Given the description of an element on the screen output the (x, y) to click on. 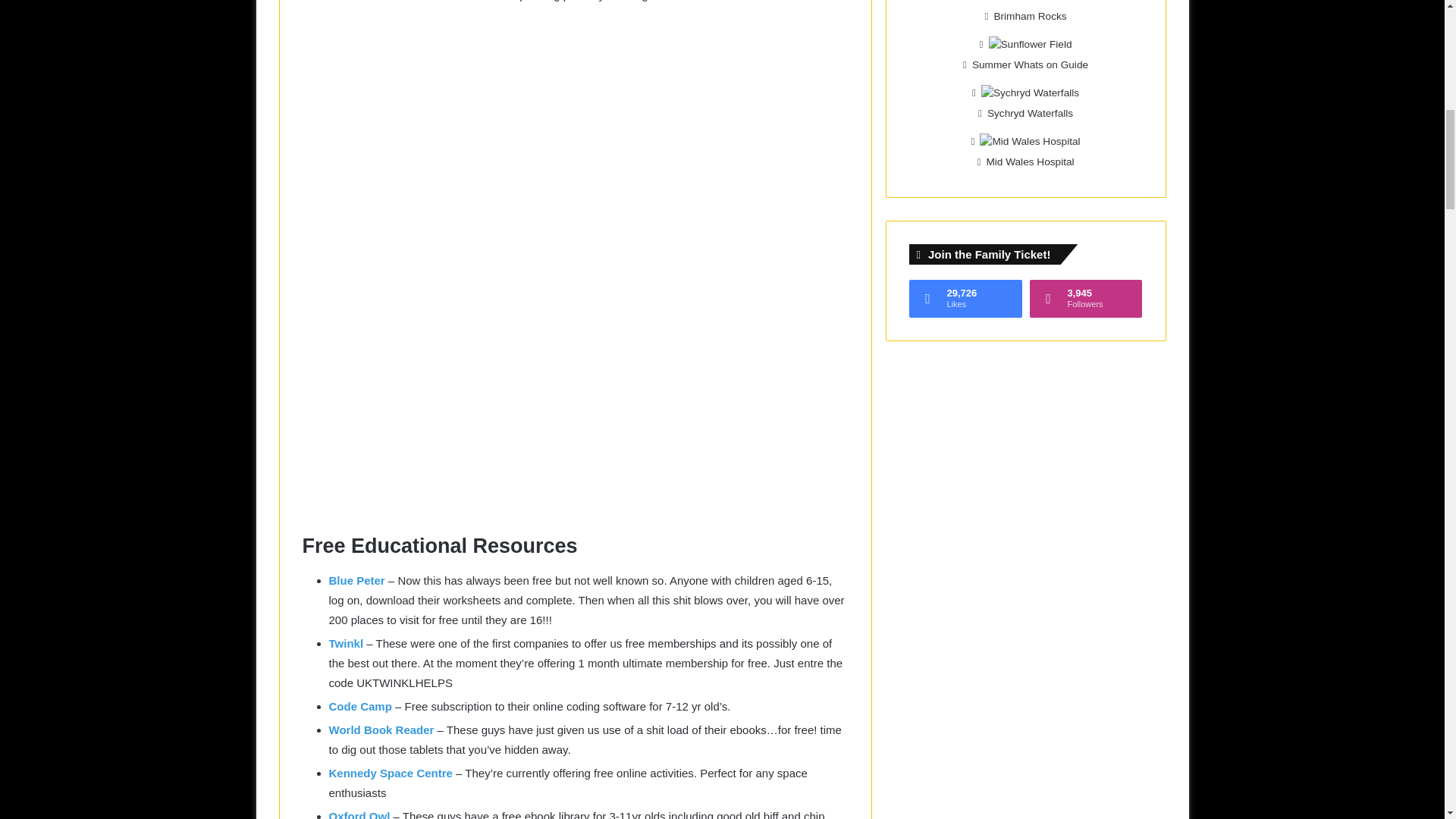
World Book Reader (381, 729)
Twinkl (346, 643)
Kennedy Space Centre (390, 772)
Code Camp (360, 706)
Blue Peter (357, 580)
Oxford Owl (359, 814)
